Given the description of an element on the screen output the (x, y) to click on. 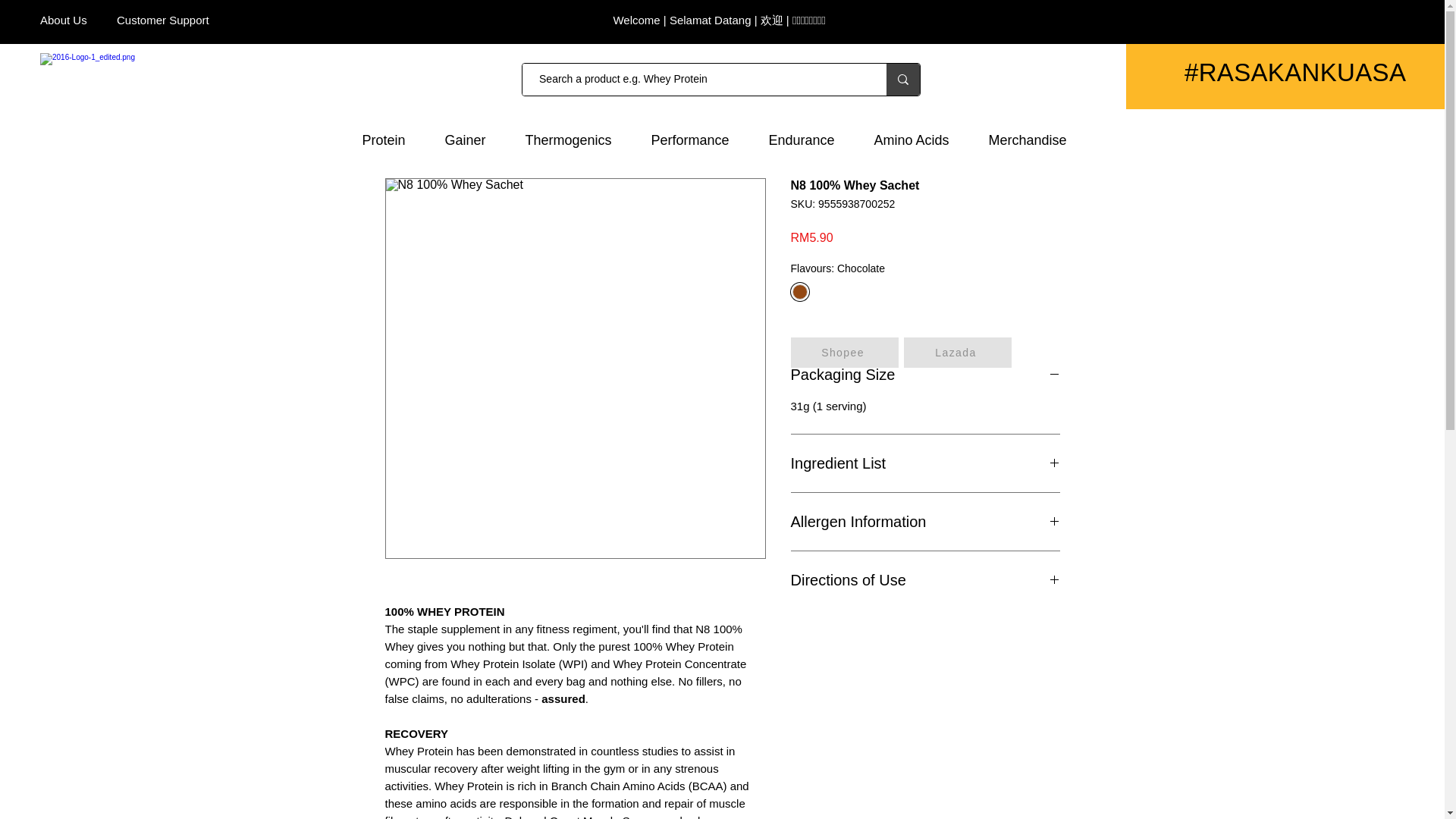
Directions of Use (924, 579)
About Us (63, 19)
Packaging Size (924, 373)
Thermogenics (576, 139)
Ingredient List (924, 463)
Performance (698, 139)
Gainer (473, 139)
Shopee (844, 352)
Customer Support (162, 19)
Endurance (809, 139)
